Given the description of an element on the screen output the (x, y) to click on. 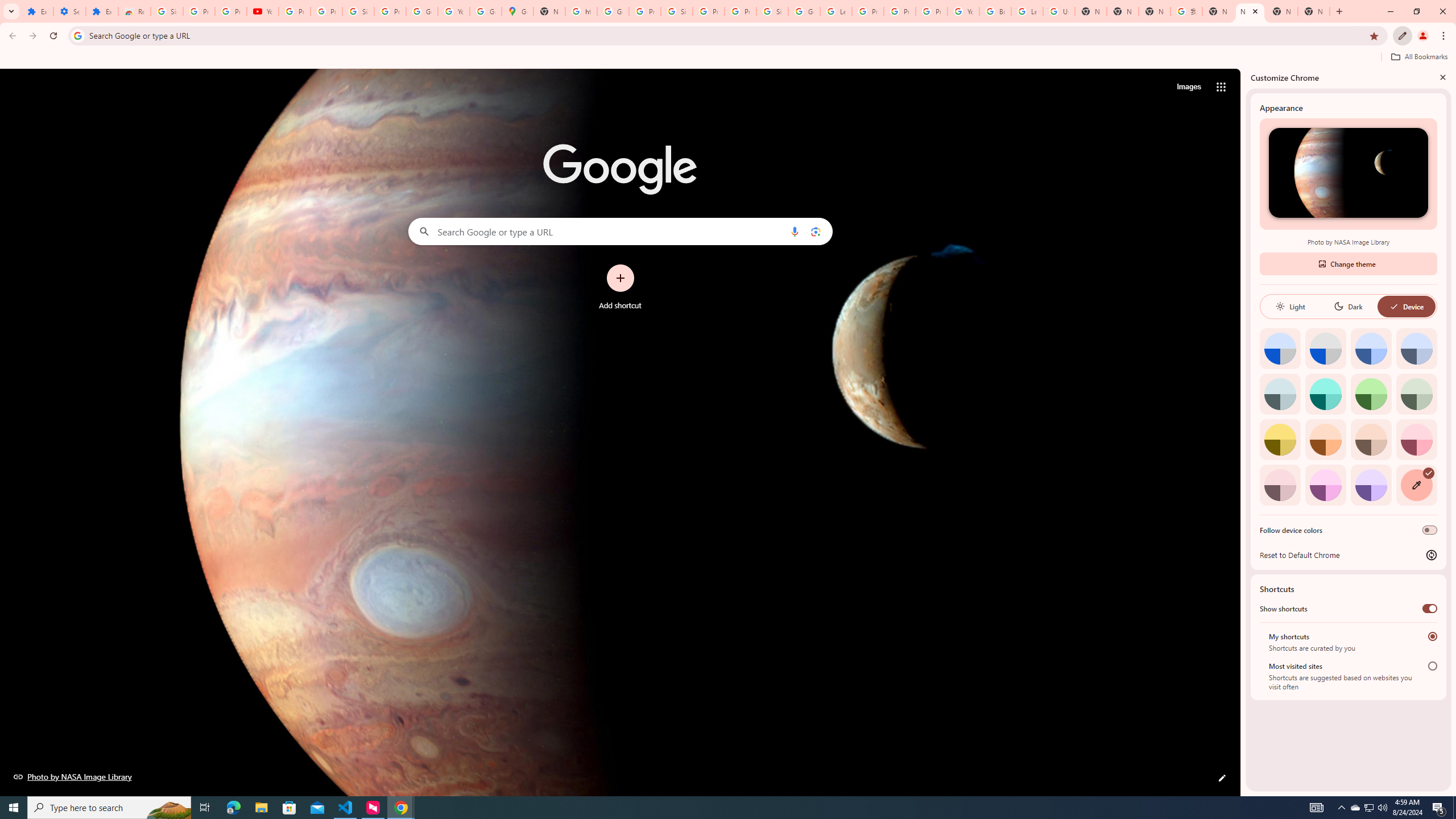
Green (1371, 393)
Fuchsia (1325, 484)
Most visited sites (1432, 665)
Photo by NASA Image Library (1348, 172)
Grey (1279, 393)
Privacy Help Center - Policies Help (868, 11)
Customize this page (1221, 778)
Google Maps (517, 11)
Sign in - Google Accounts (772, 11)
My shortcuts (1432, 636)
